Given the description of an element on the screen output the (x, y) to click on. 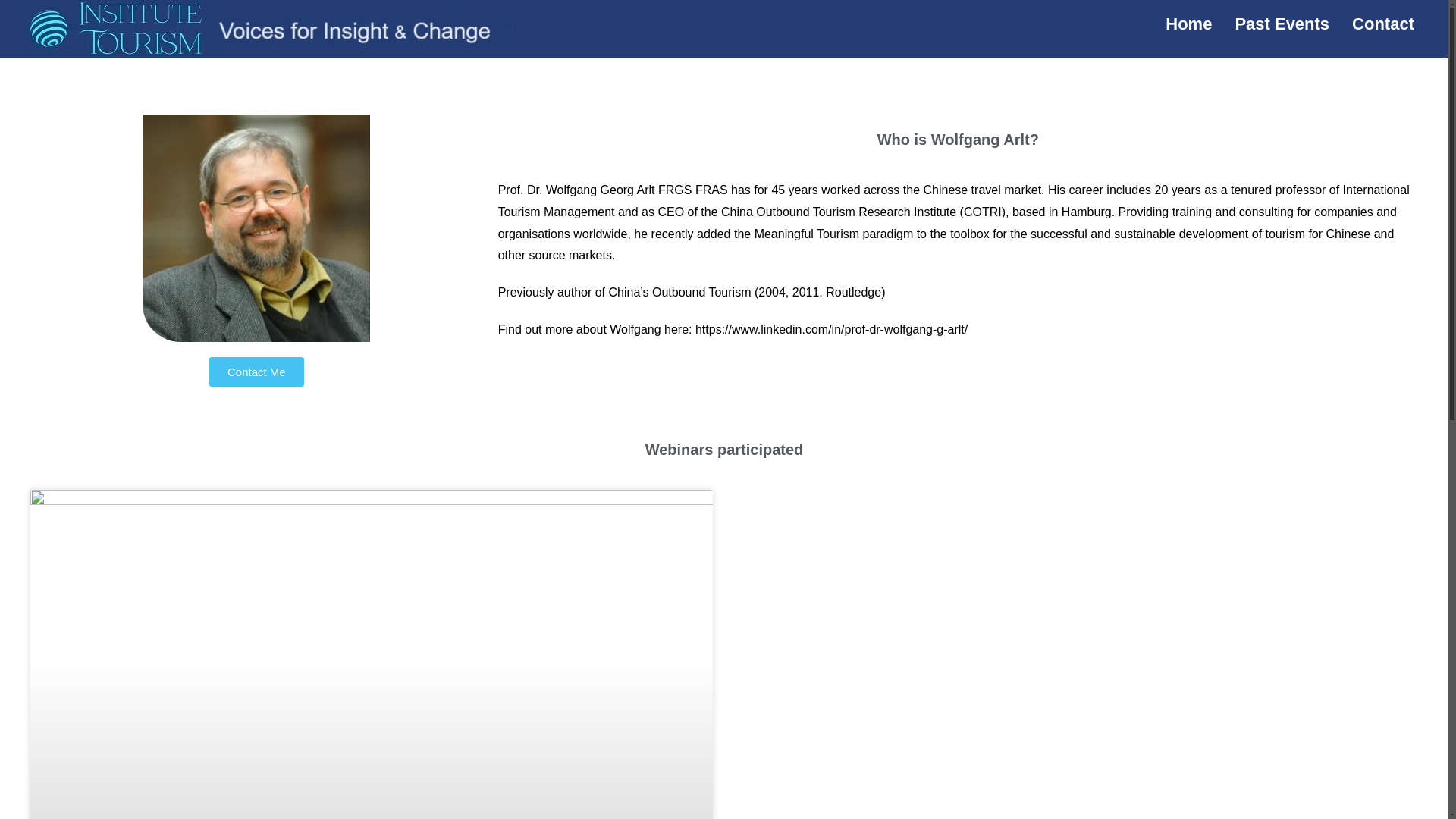
Past Events (1281, 24)
Contact Me (256, 371)
Home (1188, 24)
Contact (1382, 24)
